Given the description of an element on the screen output the (x, y) to click on. 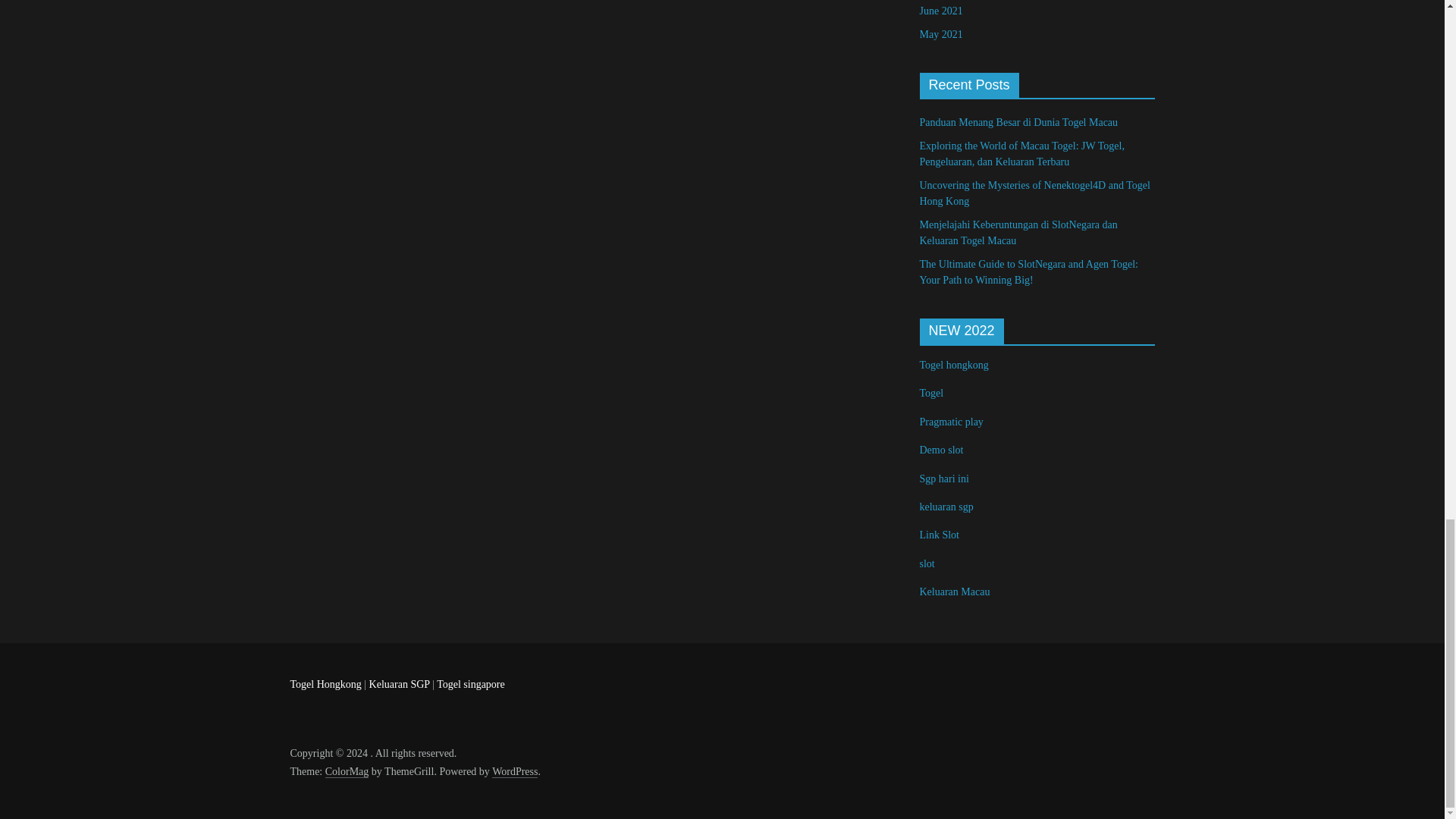
ColorMag (346, 771)
WordPress (514, 771)
